Given the description of an element on the screen output the (x, y) to click on. 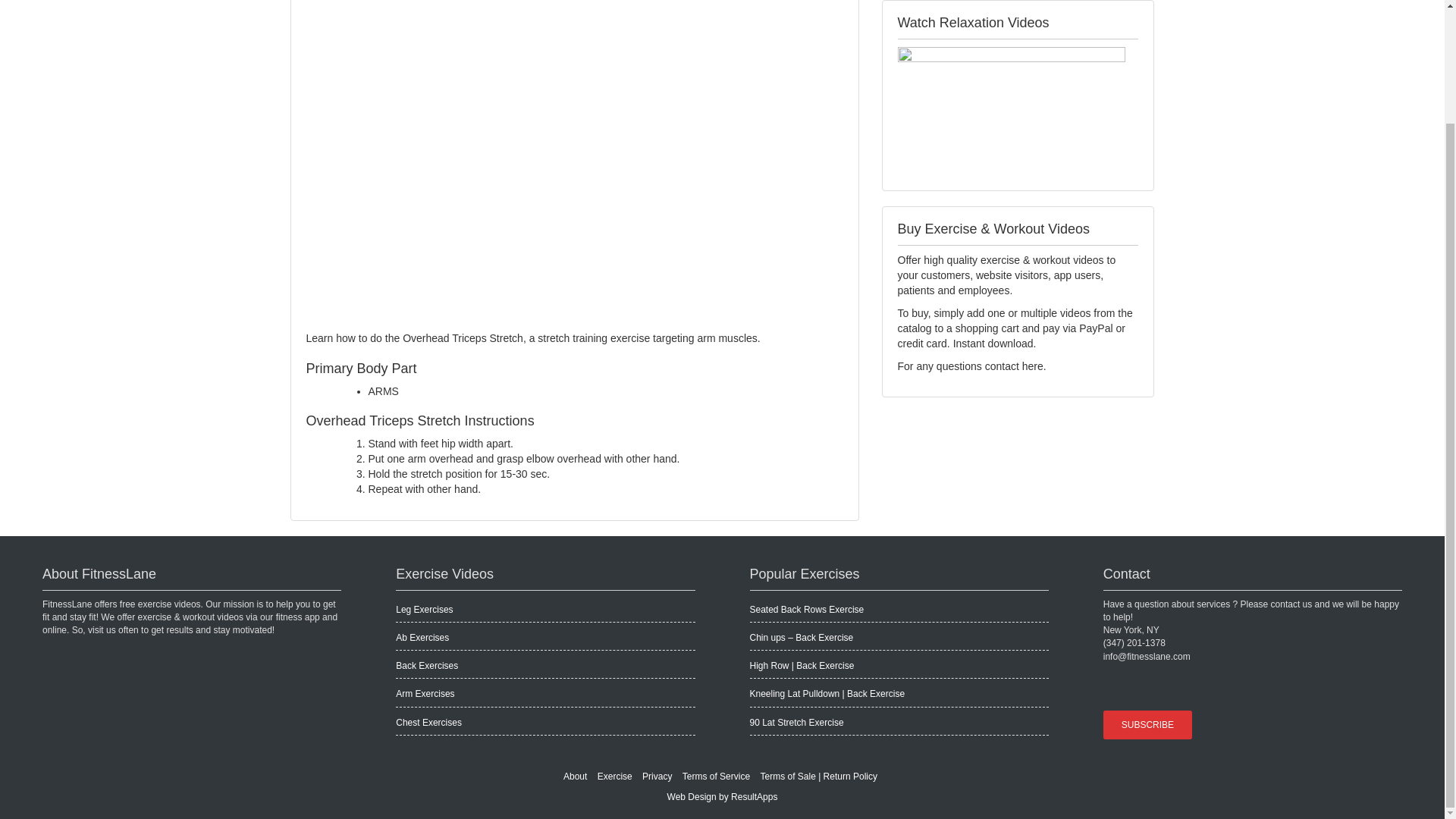
Exercise (613, 776)
About (574, 776)
Arm Exercises (425, 693)
Ab Exercises (422, 637)
Back Exercises (427, 665)
SUBSCRIBE (1149, 724)
Privacy (656, 776)
Terms of Service (715, 776)
90 Lat Stretch Exercise (796, 722)
contact here (1014, 366)
